Given the description of an element on the screen output the (x, y) to click on. 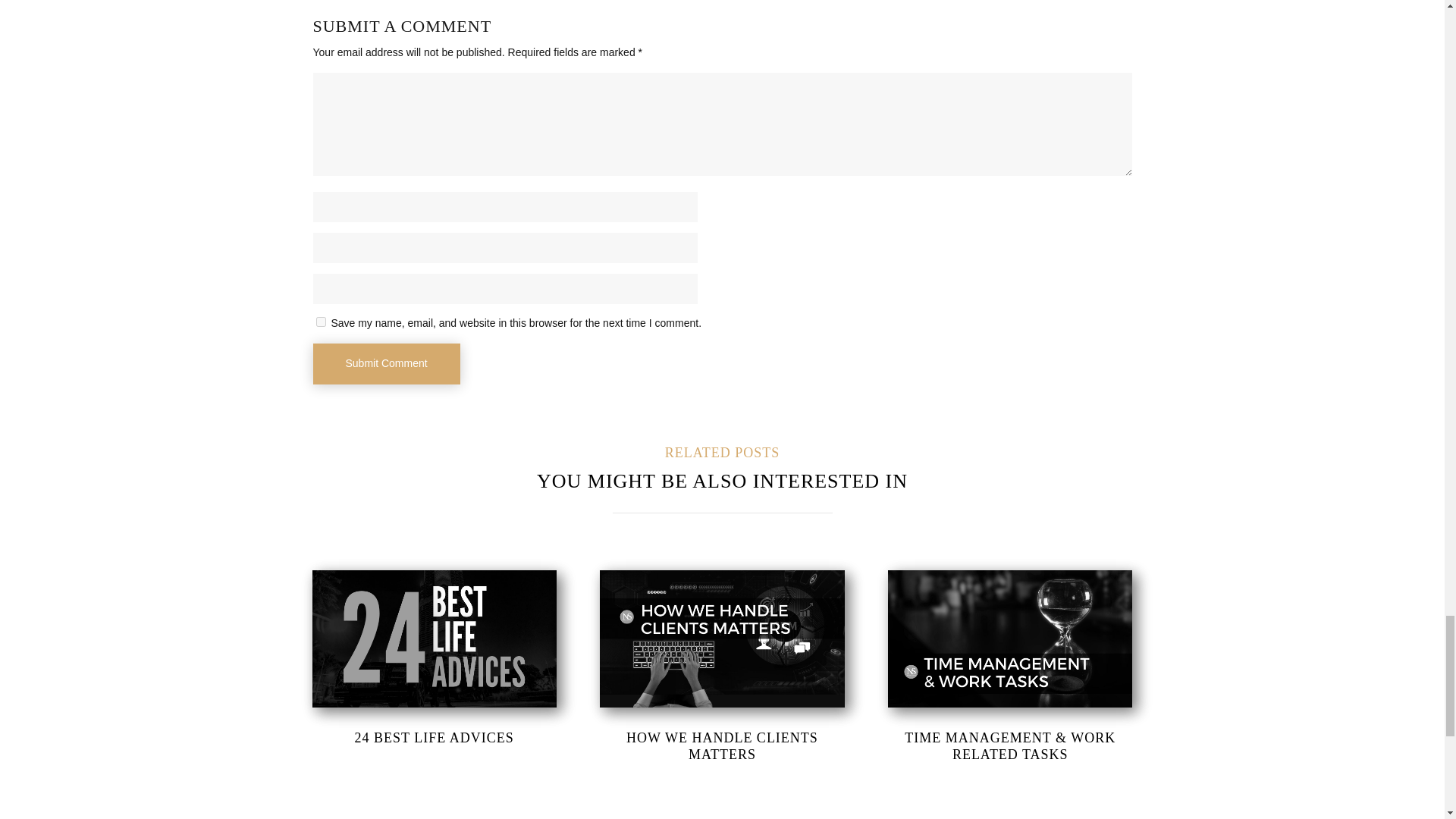
yes (319, 321)
